Given the description of an element on the screen output the (x, y) to click on. 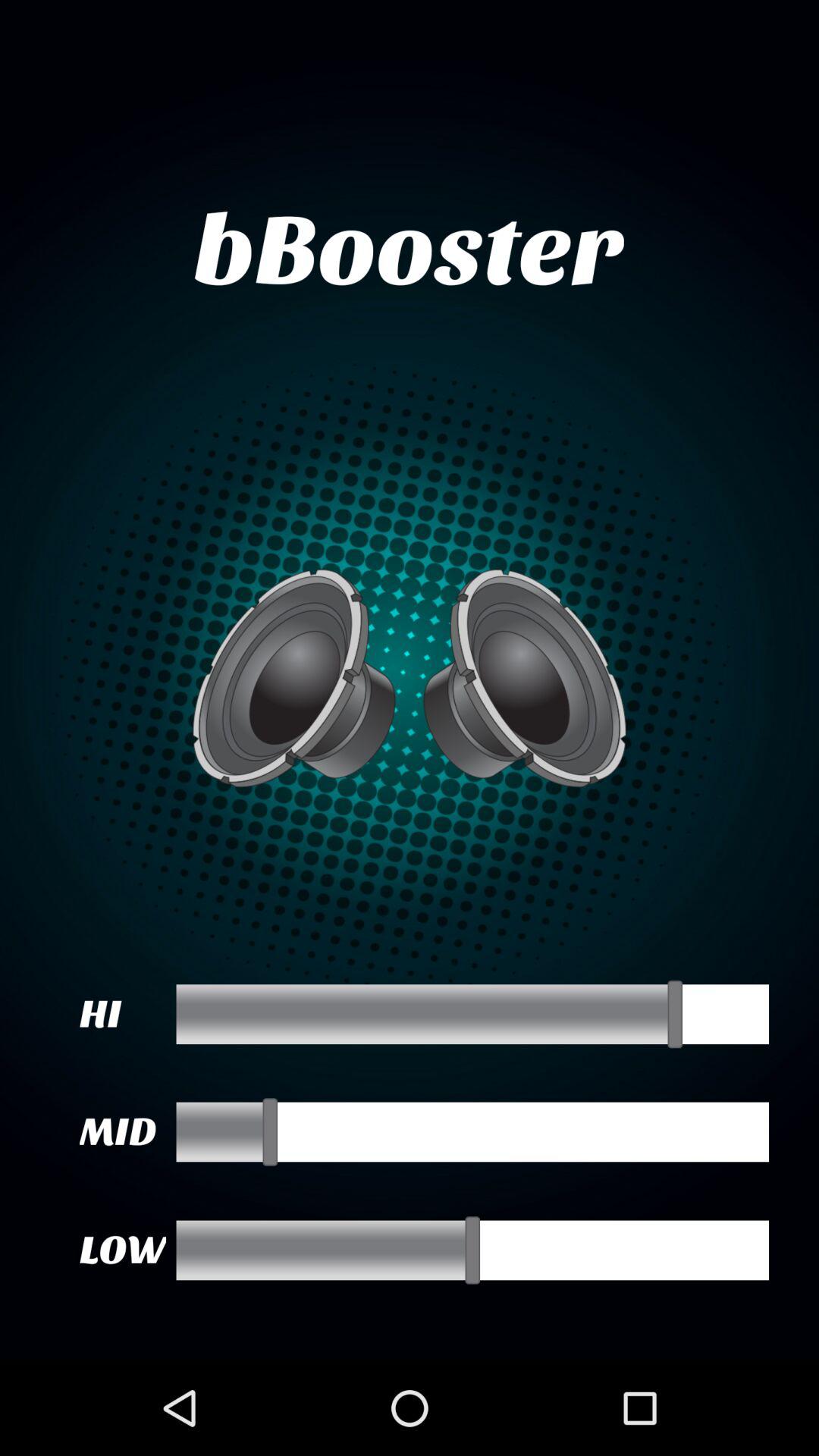
click the item below bbooster (409, 678)
